Given the description of an element on the screen output the (x, y) to click on. 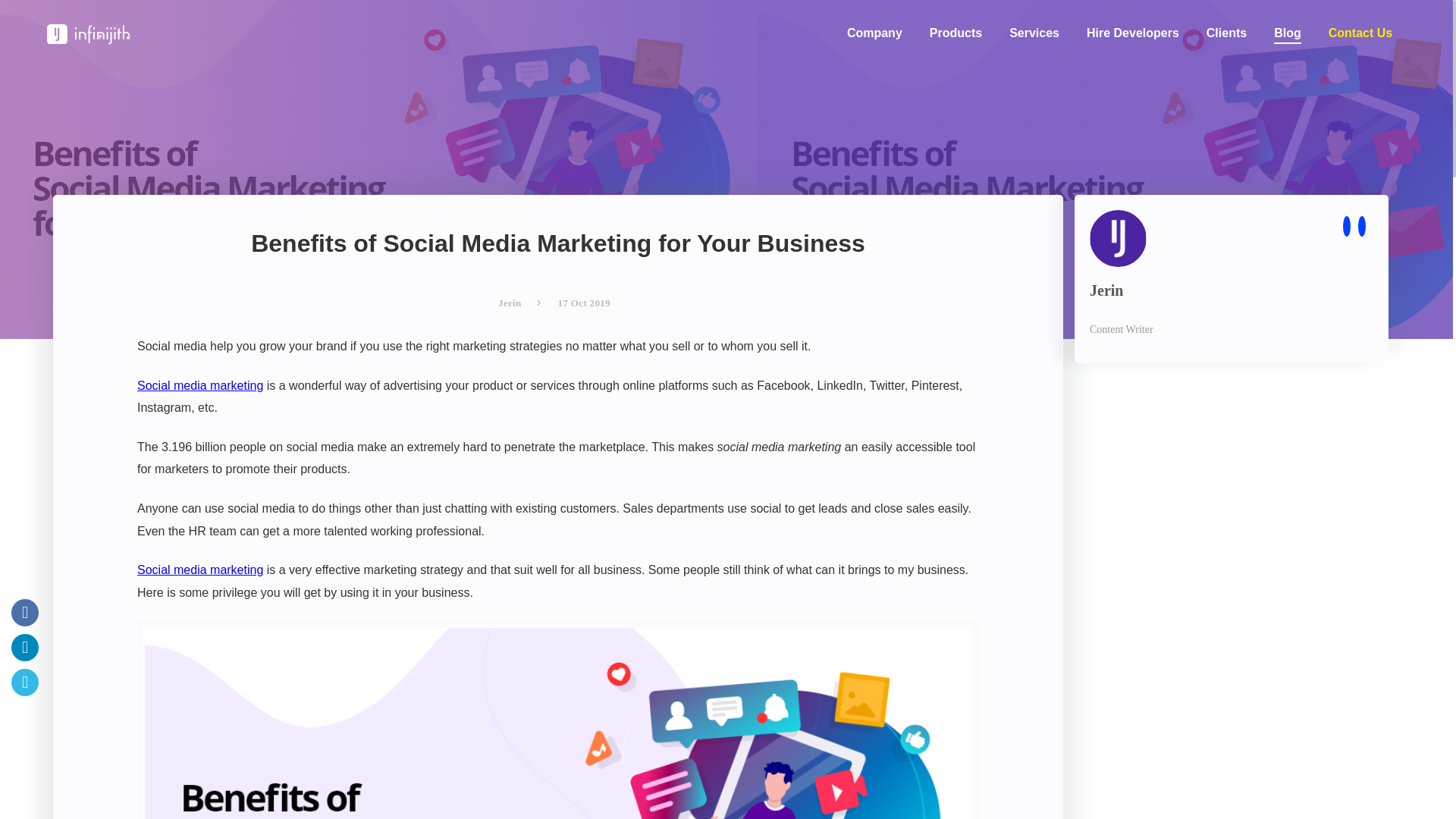
Social media marketing (199, 385)
Contact Us (1359, 26)
Social media marketing (199, 569)
Clients (1226, 26)
